Given the description of an element on the screen output the (x, y) to click on. 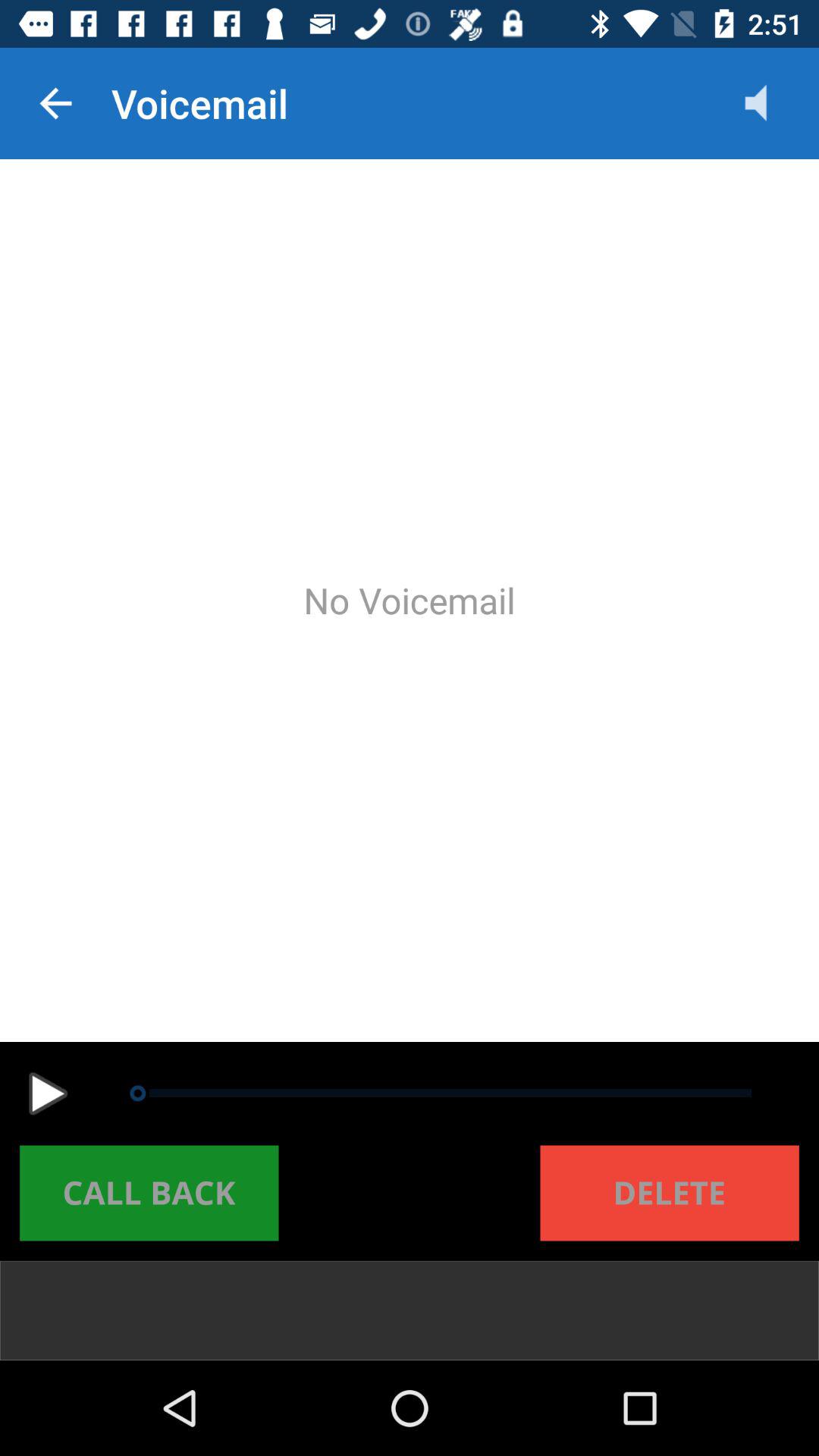
play audio (47, 1093)
